Given the description of an element on the screen output the (x, y) to click on. 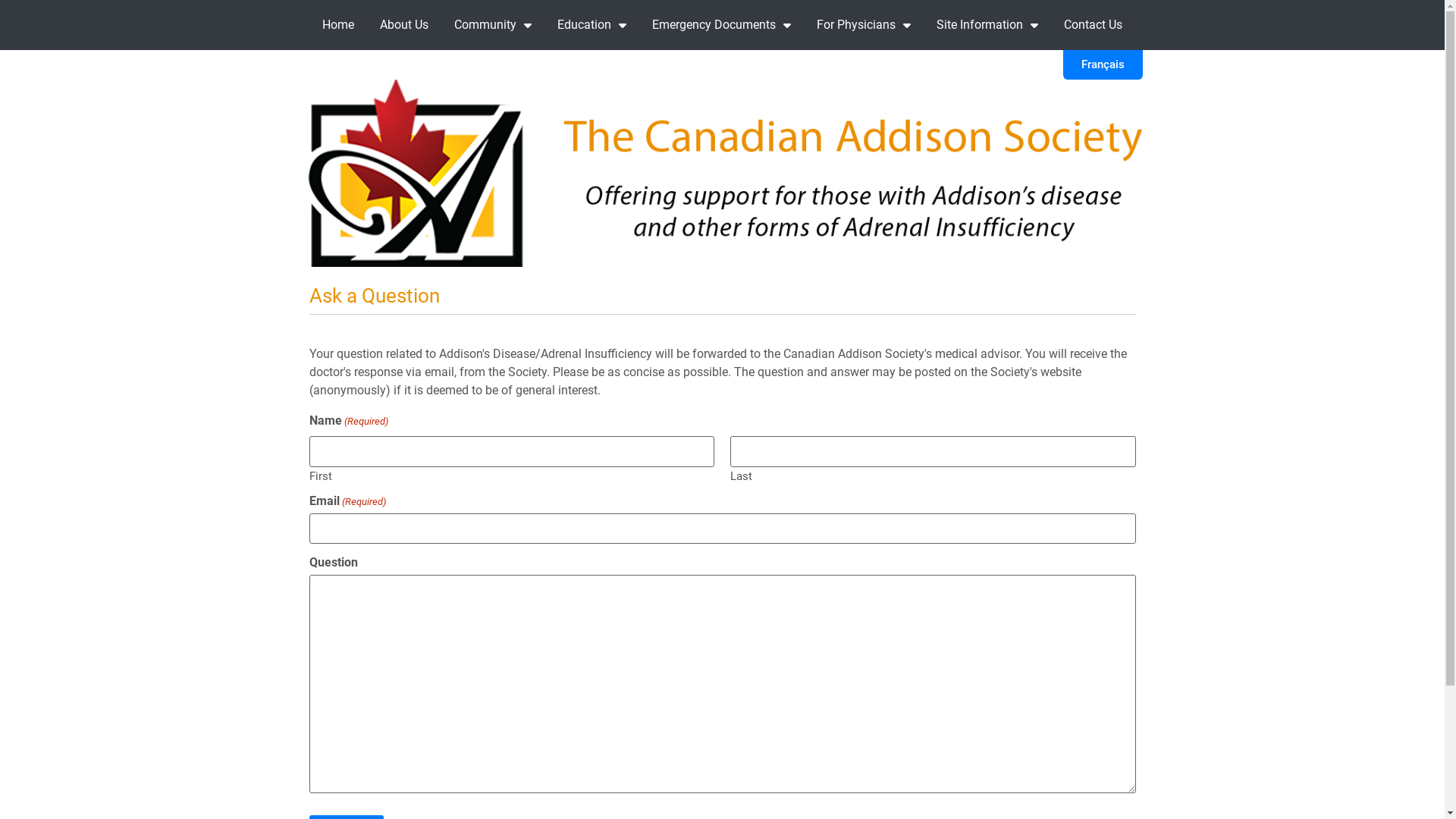
For Physicians Element type: text (863, 24)
About Us Element type: text (404, 24)
Community Element type: text (492, 24)
Education Element type: text (591, 24)
Contact Us Element type: text (1093, 24)
Home Element type: text (338, 24)
Site Information Element type: text (987, 24)
Emergency Documents Element type: text (721, 24)
